Given the description of an element on the screen output the (x, y) to click on. 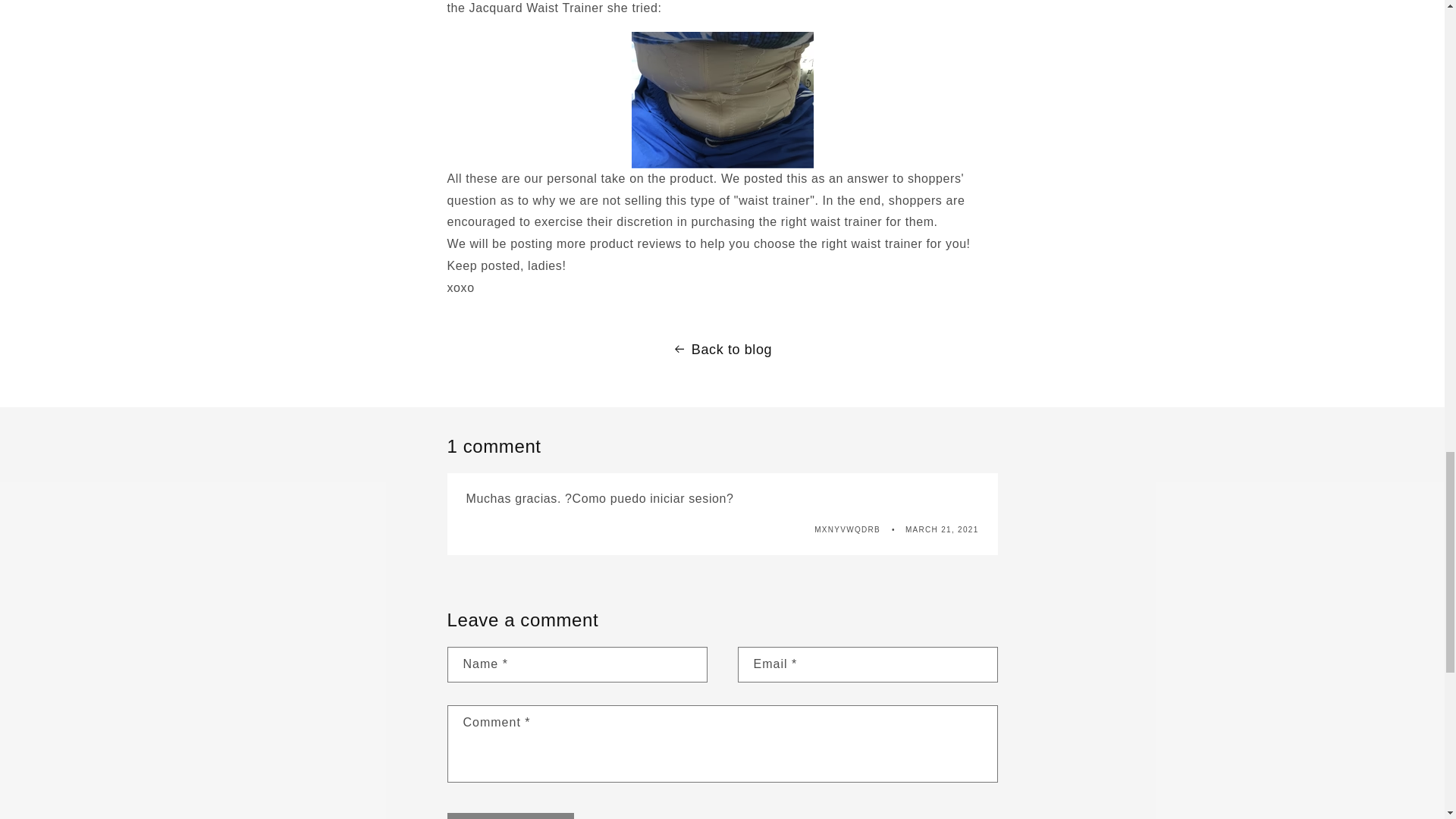
Post comment (510, 816)
Post comment (510, 816)
